Given the description of an element on the screen output the (x, y) to click on. 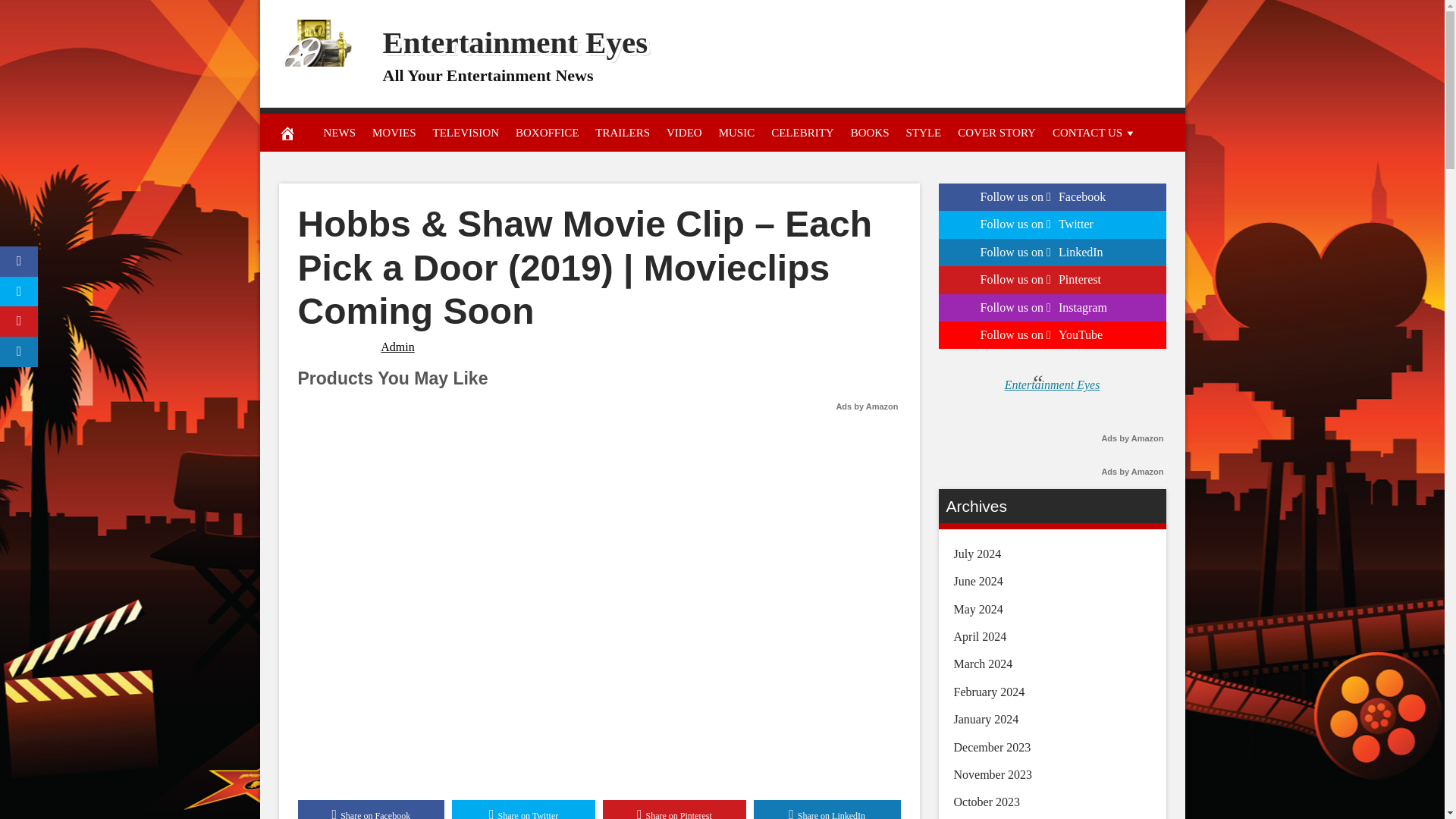
BOXOFFICE (546, 132)
STYLE (924, 132)
BOOKS (870, 132)
MOVIES (394, 132)
NEWS (340, 132)
TELEVISION (465, 132)
CELEBRITY (802, 132)
TRAILERS (622, 132)
VIDEO (684, 132)
COVER STORY (996, 132)
Entertainment Eyes (514, 42)
CONTACT US (1093, 132)
MUSIC (736, 132)
